Given the description of an element on the screen output the (x, y) to click on. 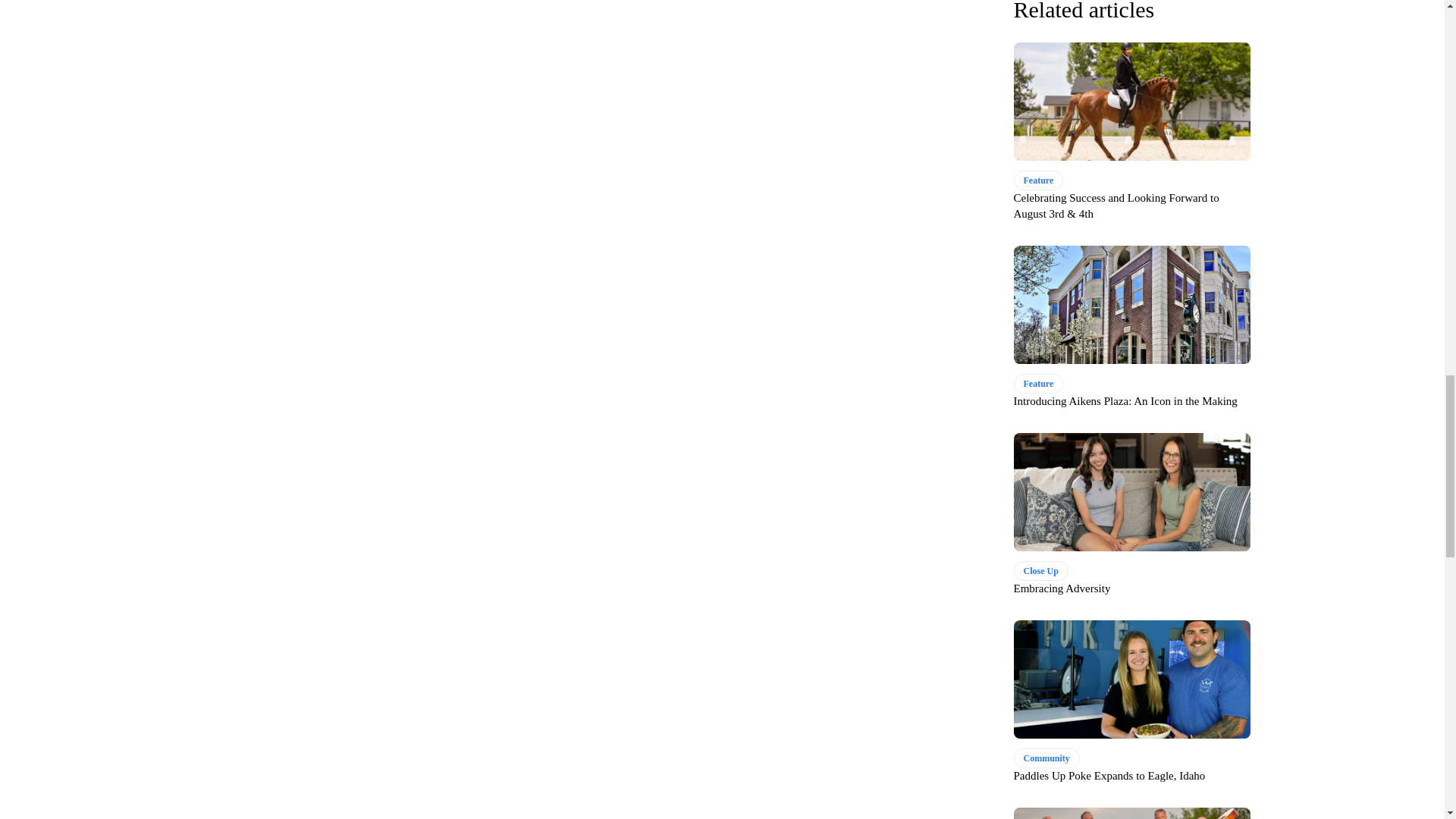
Introducing Aikens Plaza: An Icon in the Making (1131, 304)
